Given the description of an element on the screen output the (x, y) to click on. 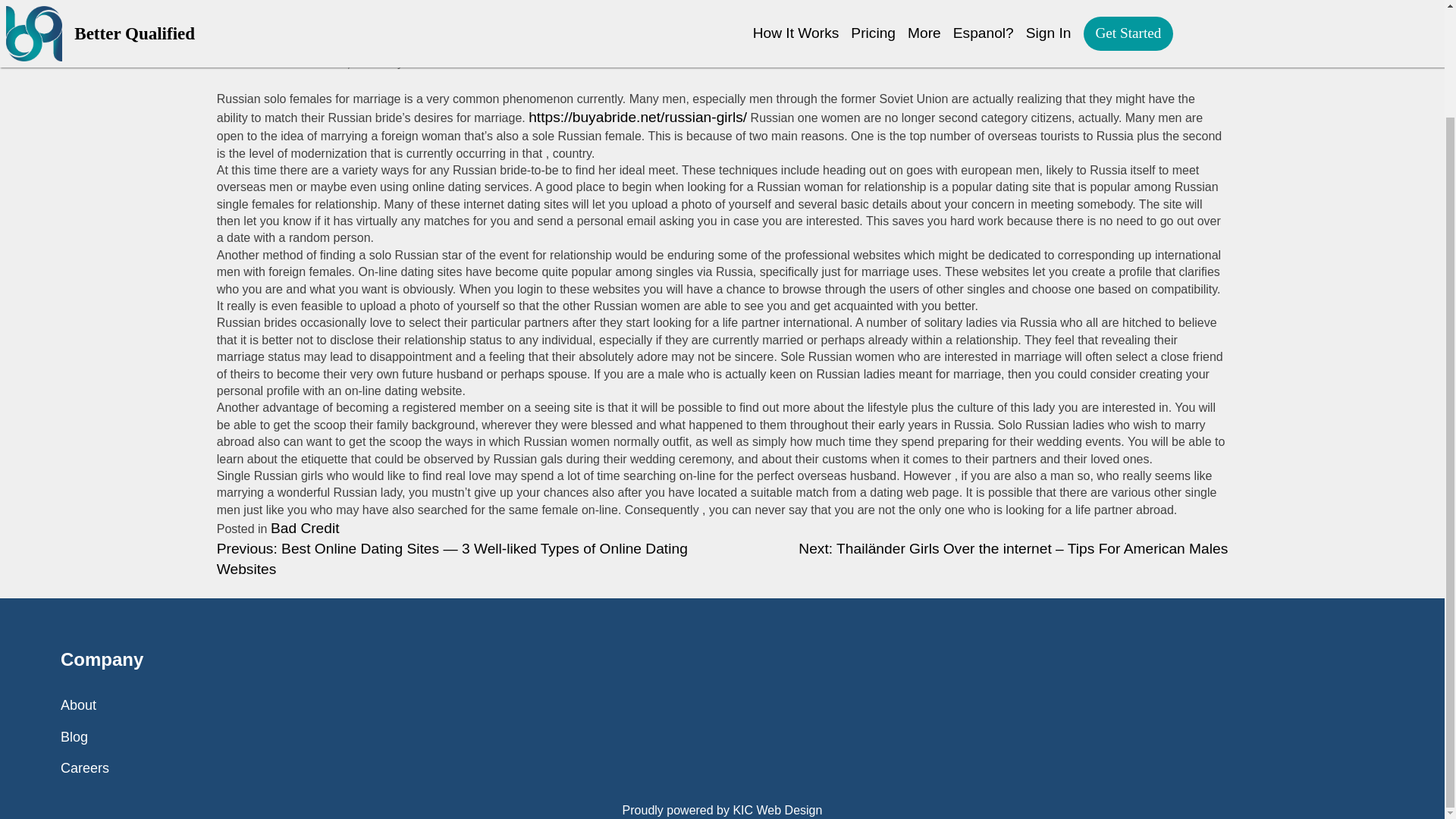
October 21, 2020 (331, 61)
Bad Credit (304, 528)
Blog (74, 736)
Careers (85, 767)
Heera Sidhu (446, 61)
About (78, 704)
Proudly powered by KIC Web Design (722, 809)
